Given the description of an element on the screen output the (x, y) to click on. 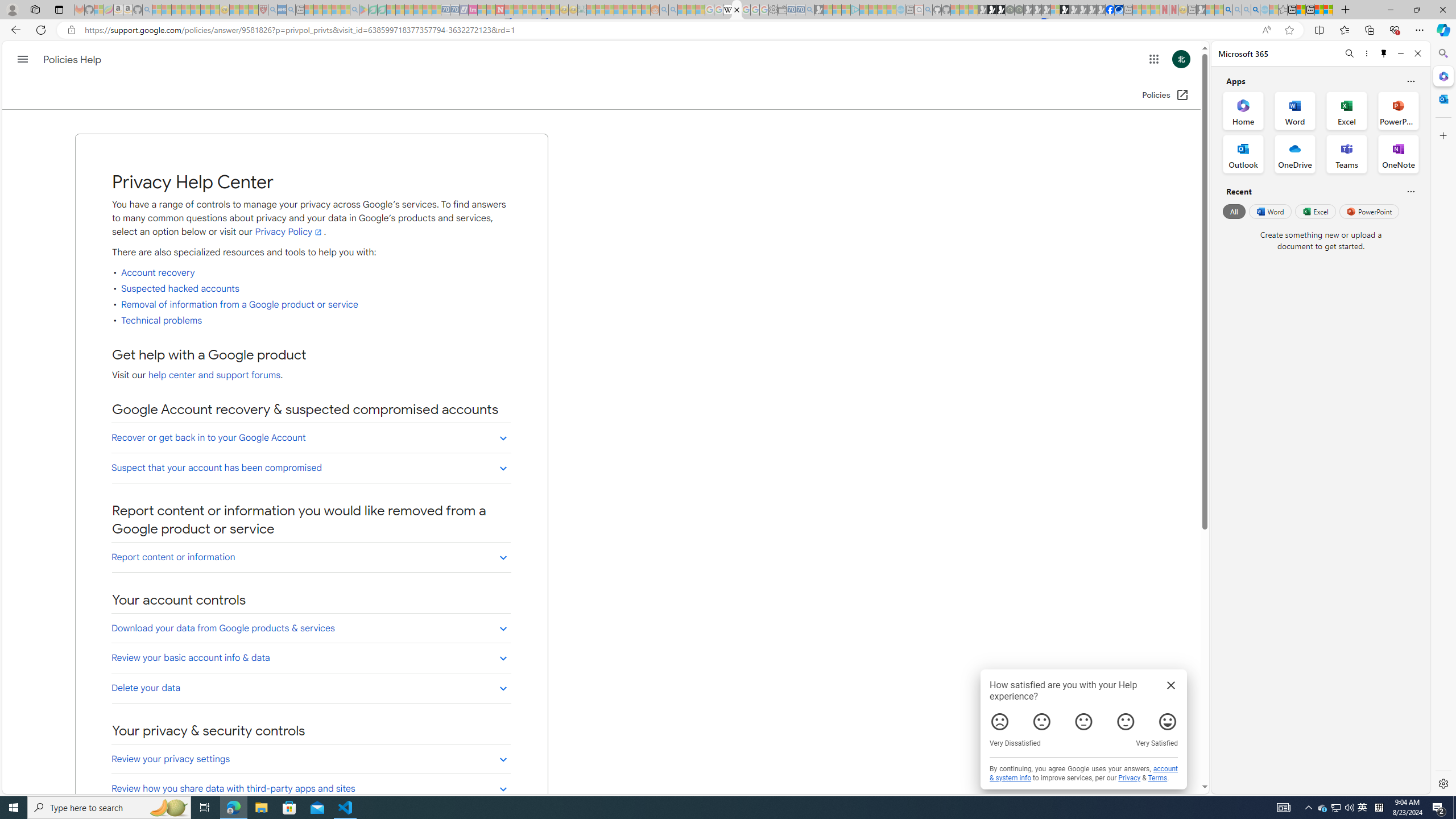
Terms, Opens in new tab (1157, 777)
Google apps (1153, 58)
AirNow.gov (1118, 9)
Future Focus Report 2024 - Sleeping (1018, 9)
MSN - Sleeping (1200, 9)
All (1233, 210)
